Given the description of an element on the screen output the (x, y) to click on. 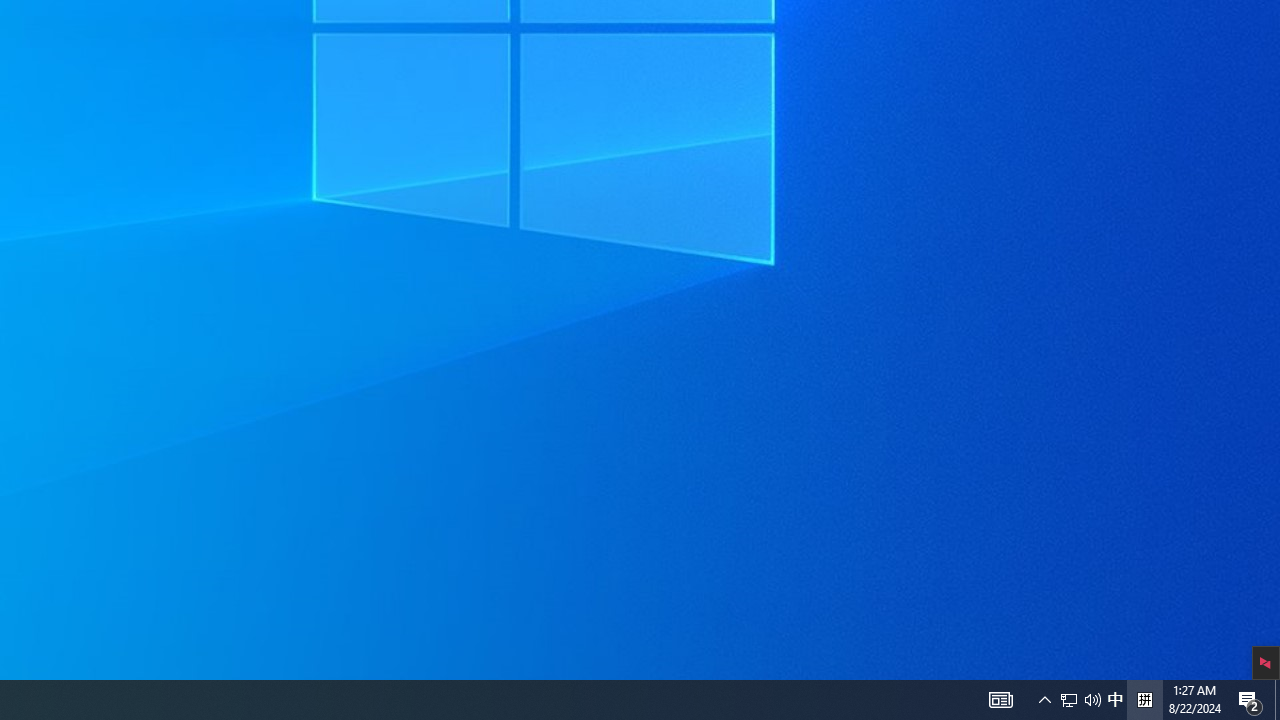
Q2790: 100% (1092, 699)
User Promoted Notification Area (1080, 699)
Action Center, 2 new notifications (1069, 699)
Notification Chevron (1250, 699)
Tray Input Indicator - Chinese (Simplified, China) (1044, 699)
AutomationID: 4105 (1144, 699)
Show desktop (1115, 699)
